Given the description of an element on the screen output the (x, y) to click on. 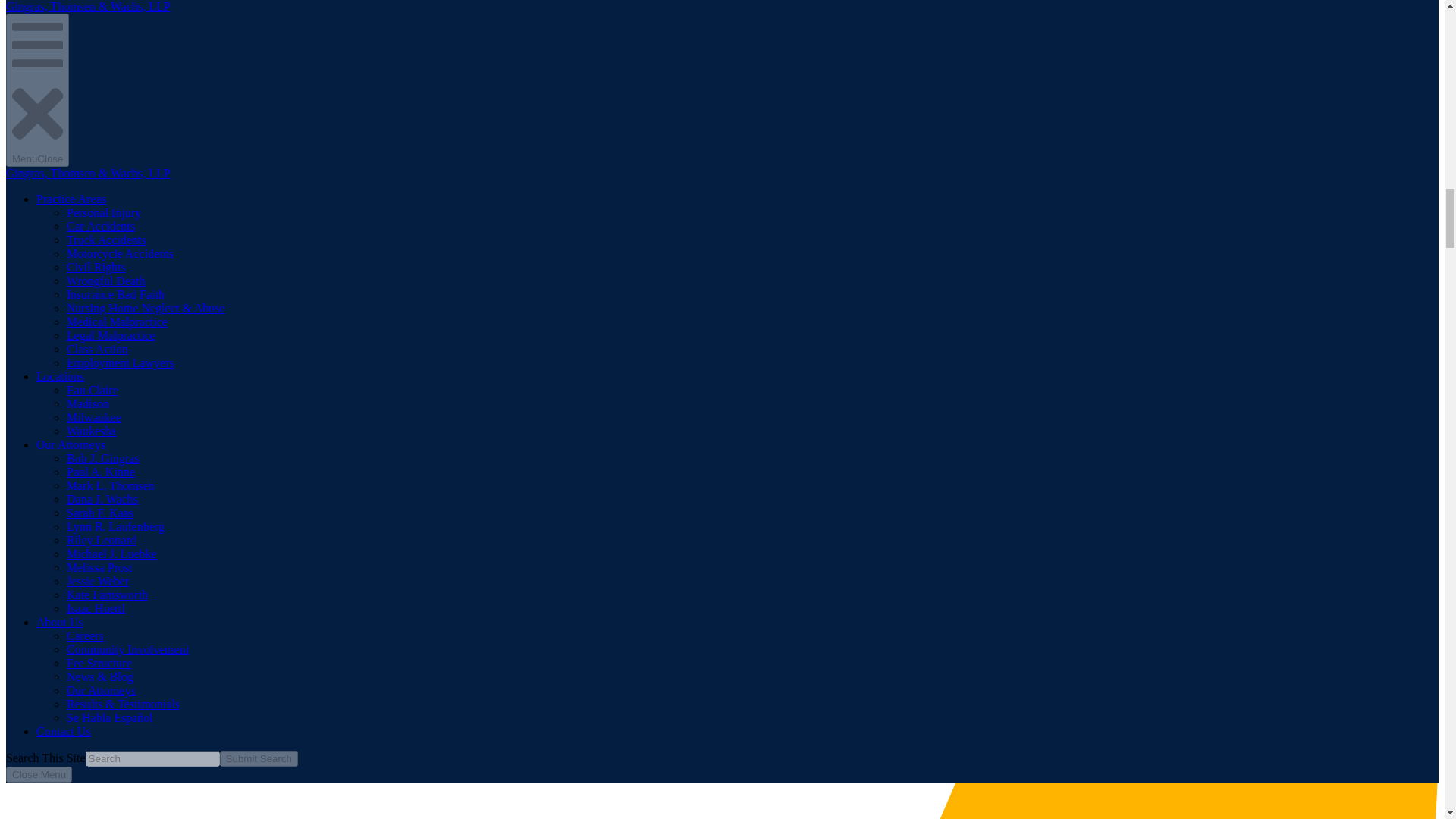
Footer Logo (118, 575)
Logo (118, 522)
